Given the description of an element on the screen output the (x, y) to click on. 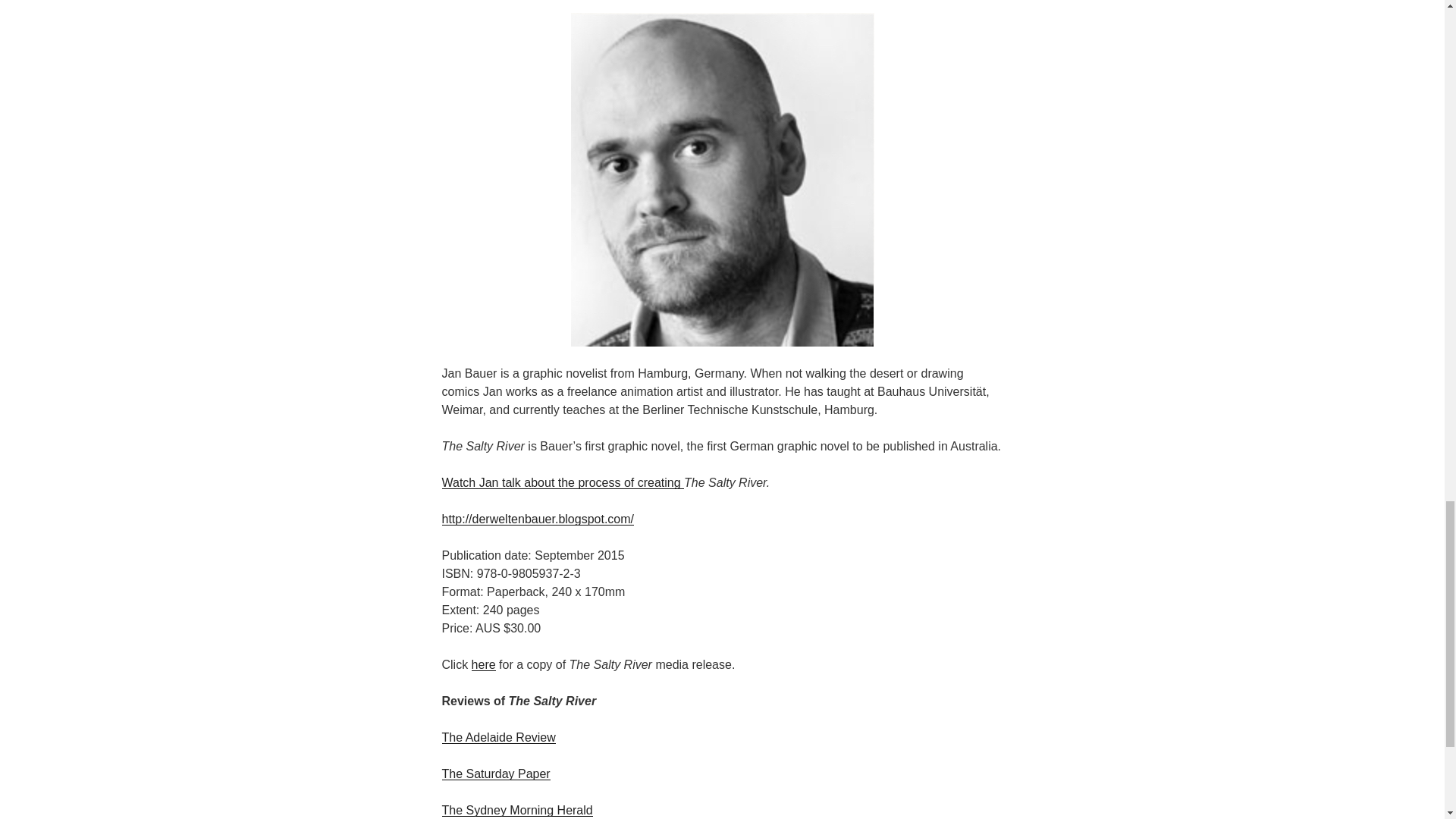
The Adelaide Review (497, 737)
The Sydney Morning Herald (516, 809)
here (483, 664)
The Saturday Paper (495, 773)
Watch Jan talk about the process of creating (562, 481)
